Given the description of an element on the screen output the (x, y) to click on. 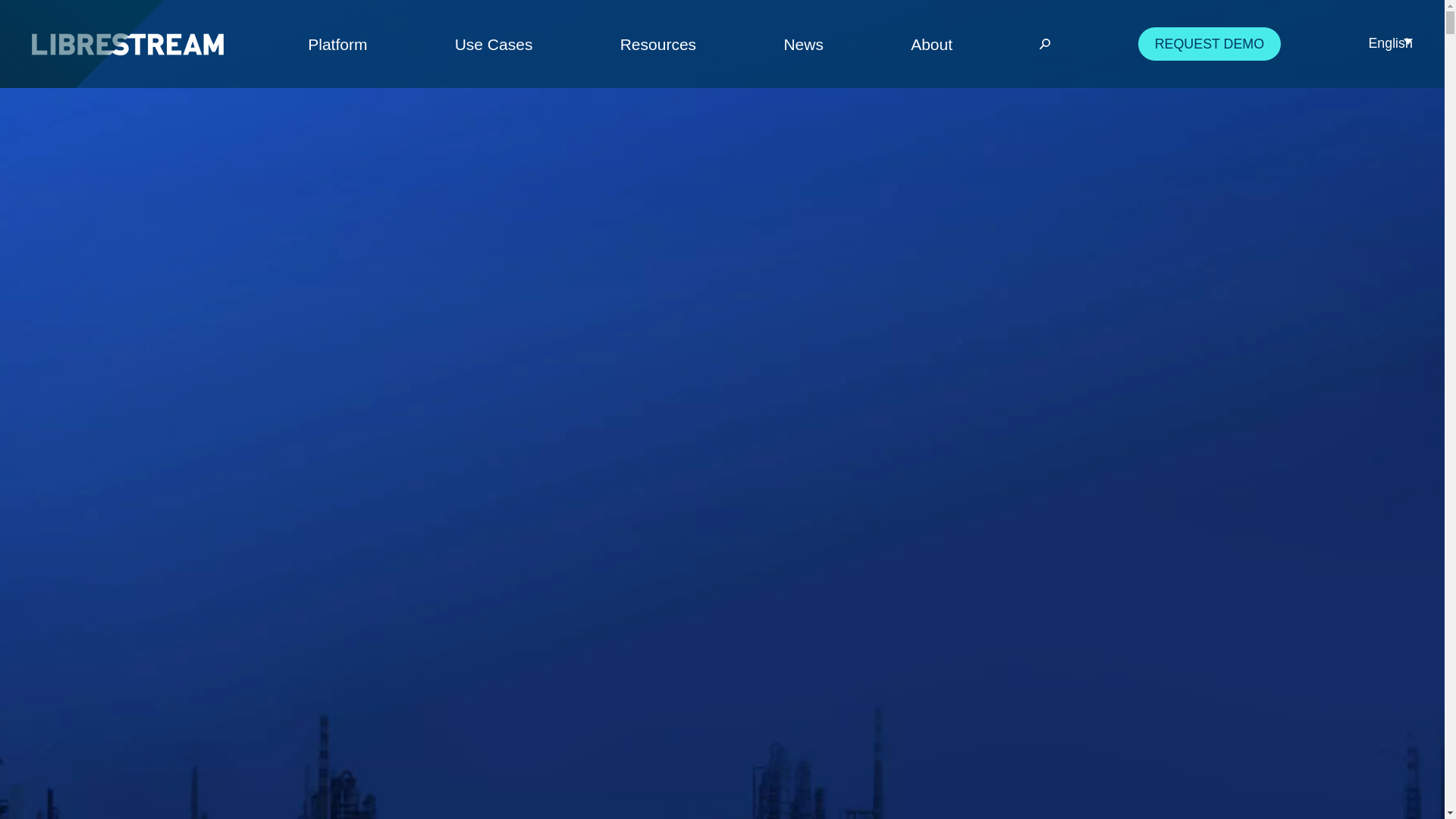
REQUEST DEMO (1209, 43)
Search (1017, 44)
English (1390, 43)
Use Cases (493, 44)
About (931, 44)
News (803, 44)
Resources (657, 44)
Platform (336, 44)
